Given the description of an element on the screen output the (x, y) to click on. 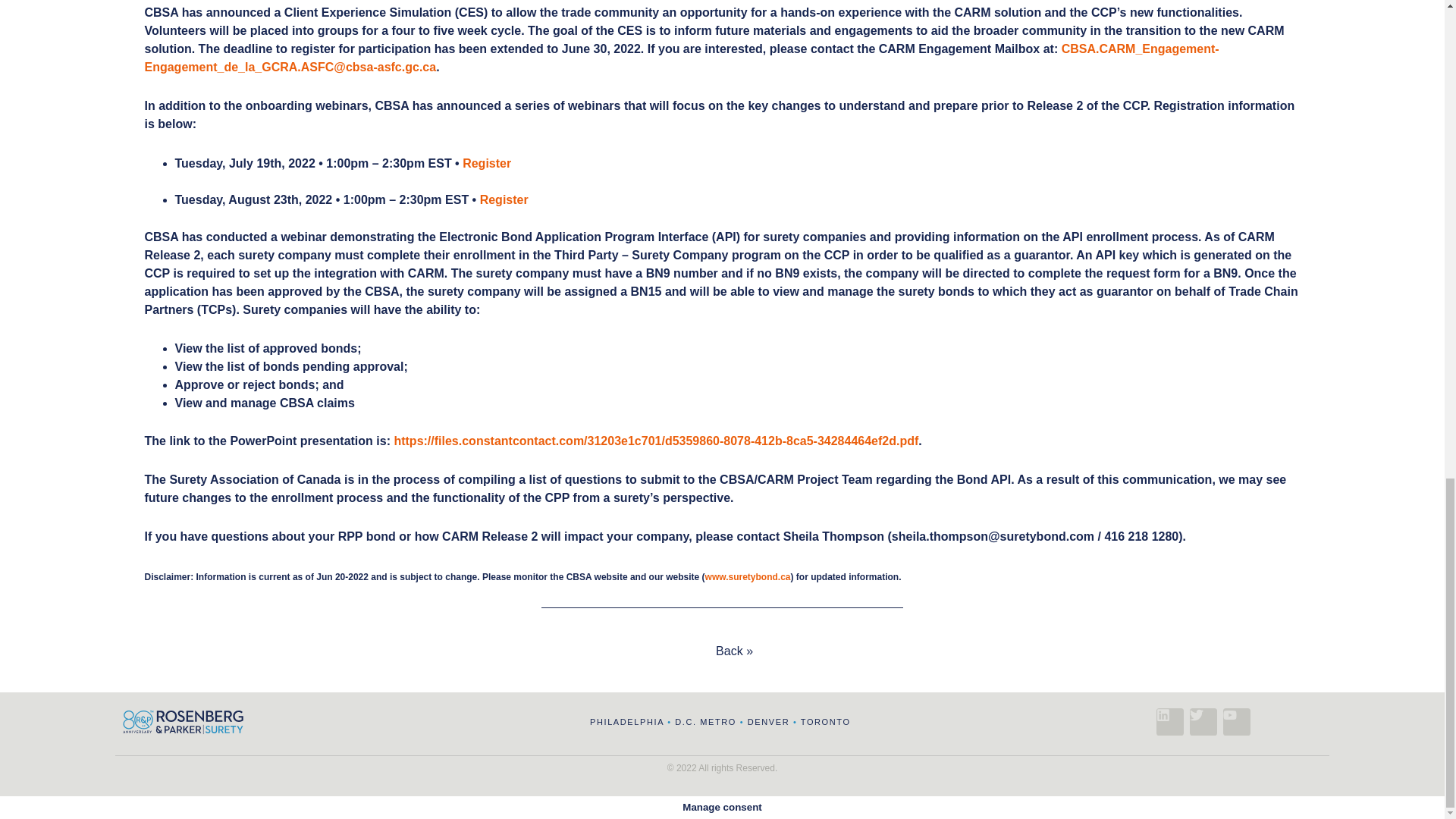
Register (631, 172)
Register (504, 199)
www.suretybond.ca (747, 576)
